Given the description of an element on the screen output the (x, y) to click on. 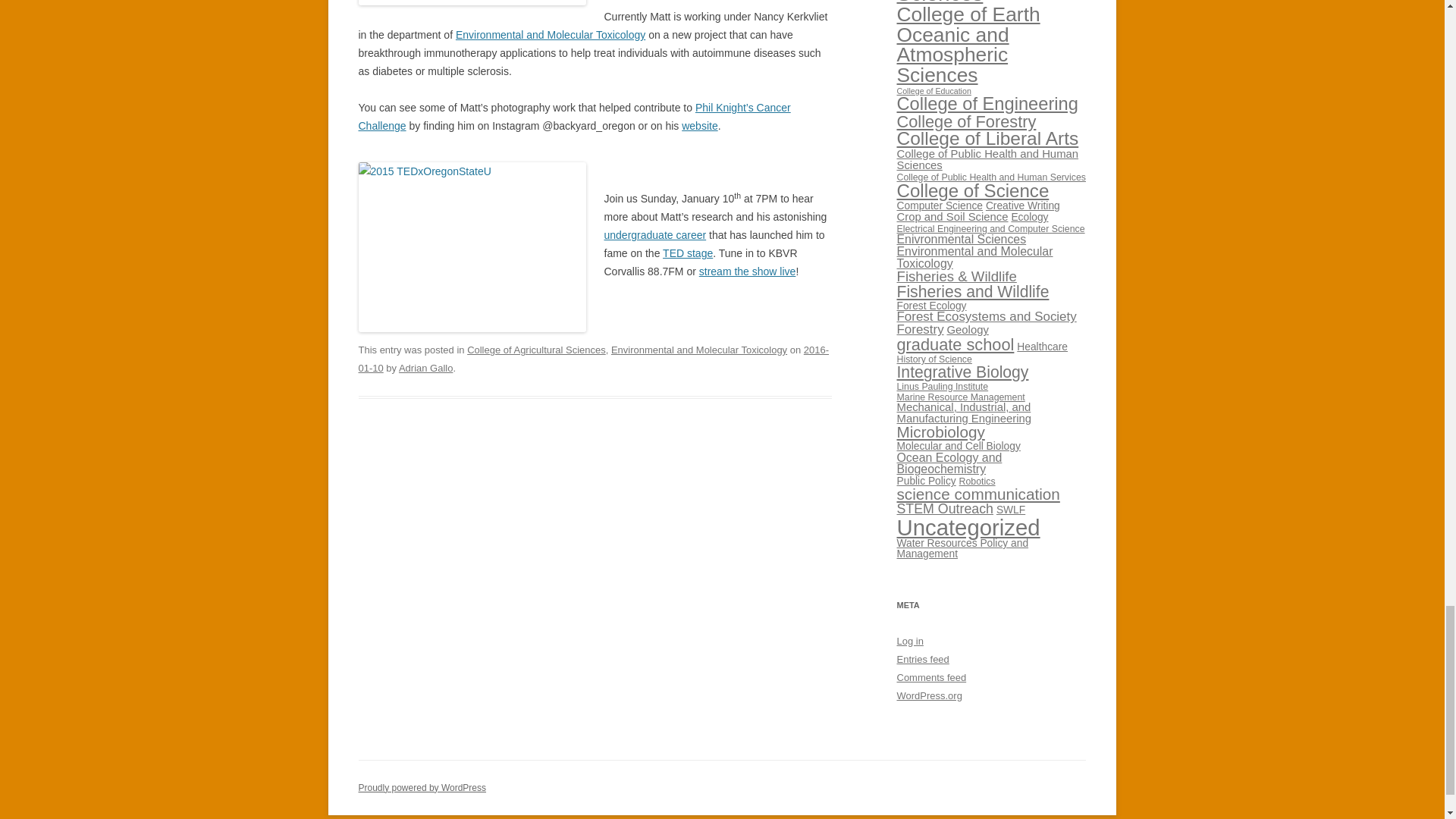
website (699, 125)
Environmental and Molecular Toxicology (550, 34)
6:10 pm (593, 358)
View all posts by Adrian Gallo (425, 367)
Semantic Personal Publishing Platform (422, 787)
